Given the description of an element on the screen output the (x, y) to click on. 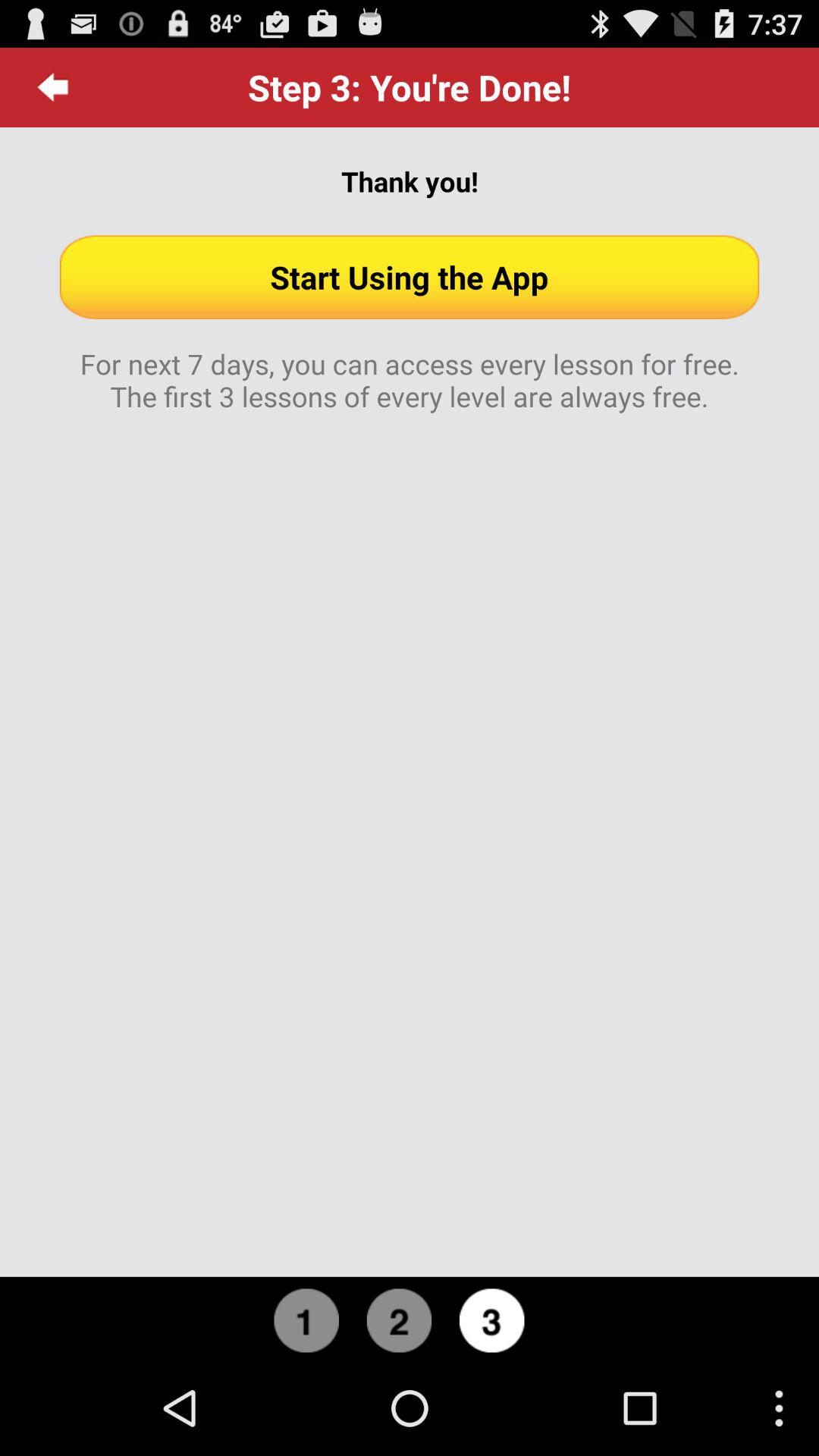
flip to start using the button (409, 277)
